Given the description of an element on the screen output the (x, y) to click on. 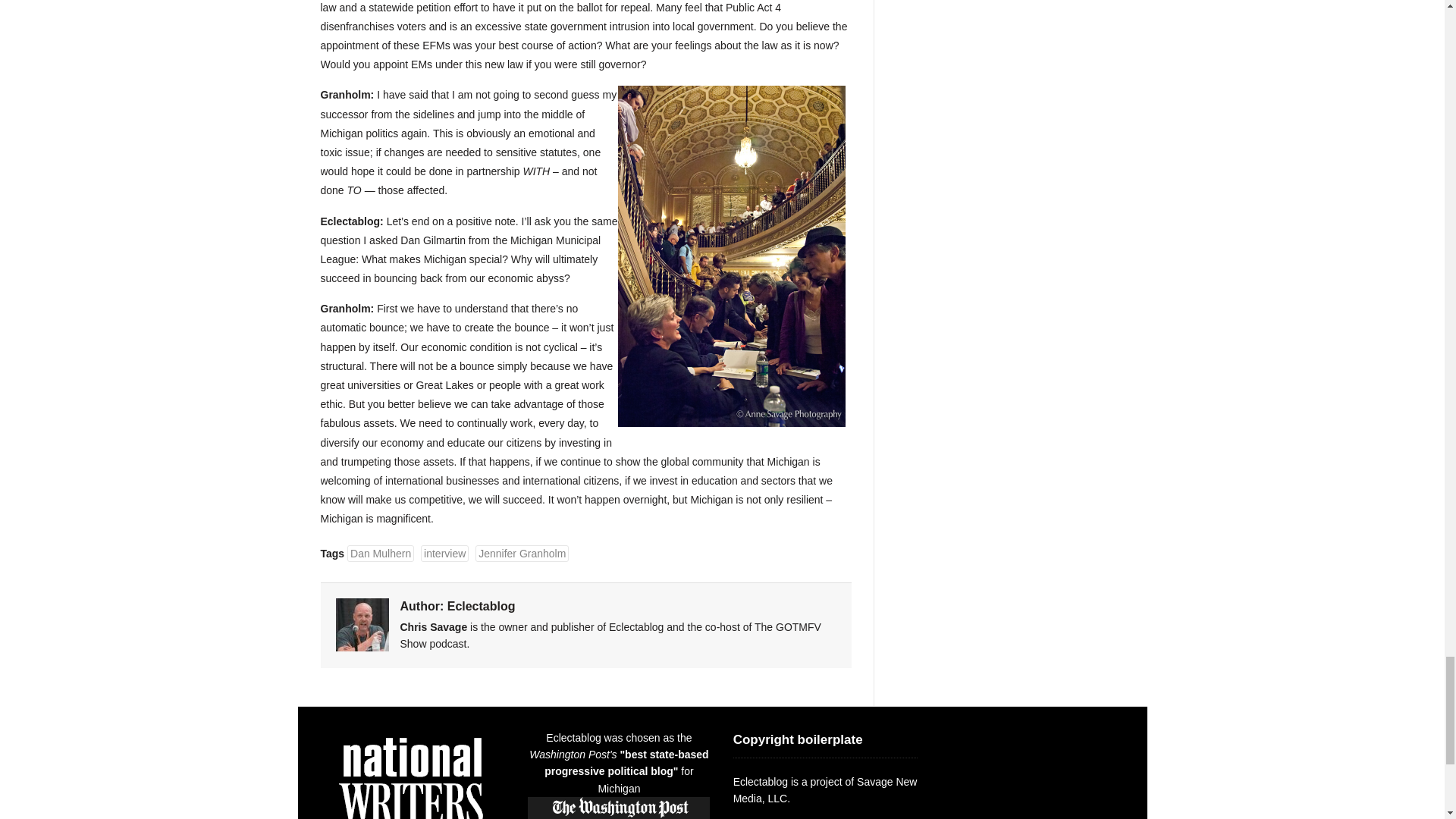
Jennifer Granholm (522, 553)
Eclectablog (480, 605)
Posts by Eclectablog (480, 605)
interview (444, 553)
Dan Mulhern (380, 553)
